Given the description of an element on the screen output the (x, y) to click on. 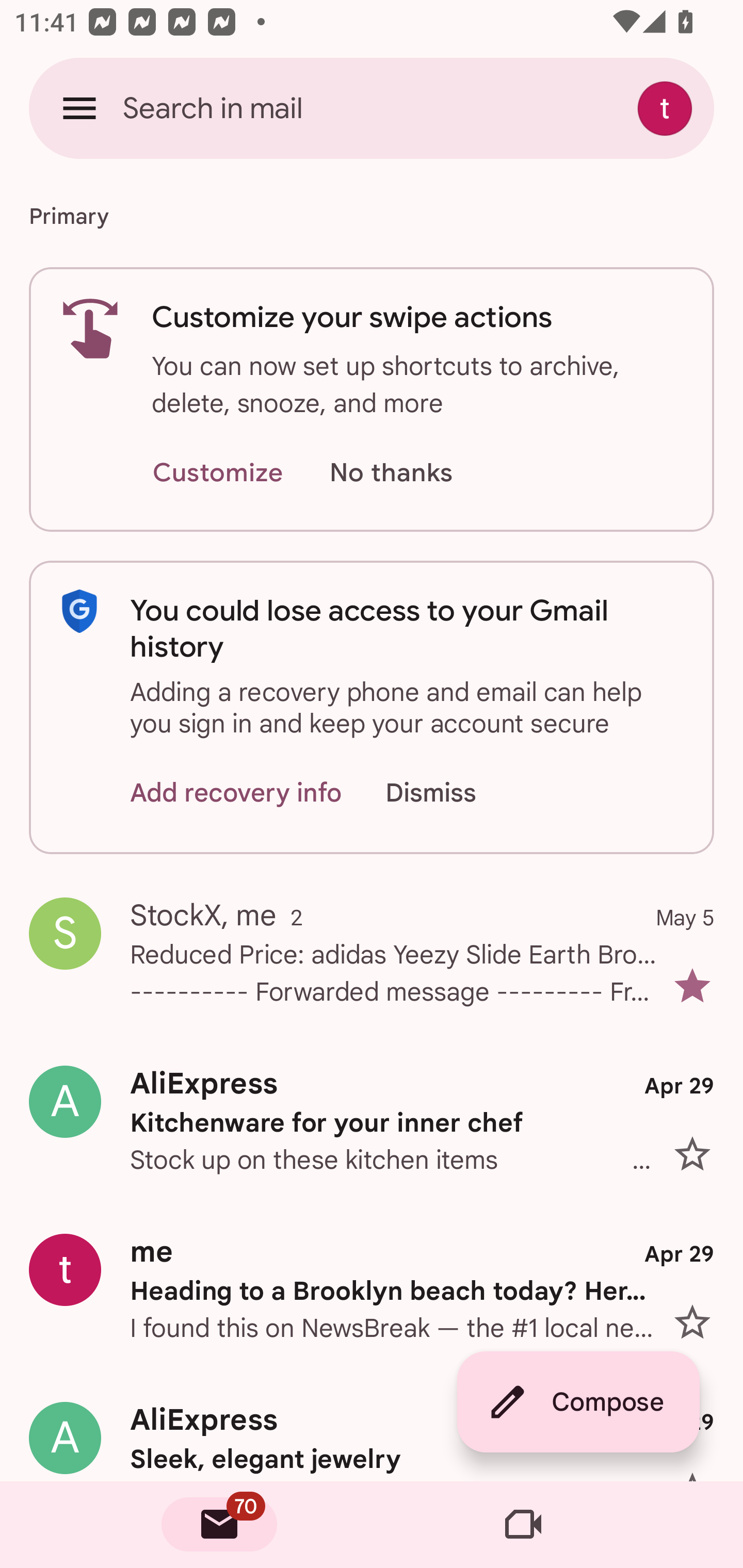
Open navigation drawer (79, 108)
Customize (217, 473)
No thanks (390, 473)
Add recovery info (235, 792)
Dismiss (449, 792)
Compose (577, 1401)
Meet (523, 1524)
